Given the description of an element on the screen output the (x, y) to click on. 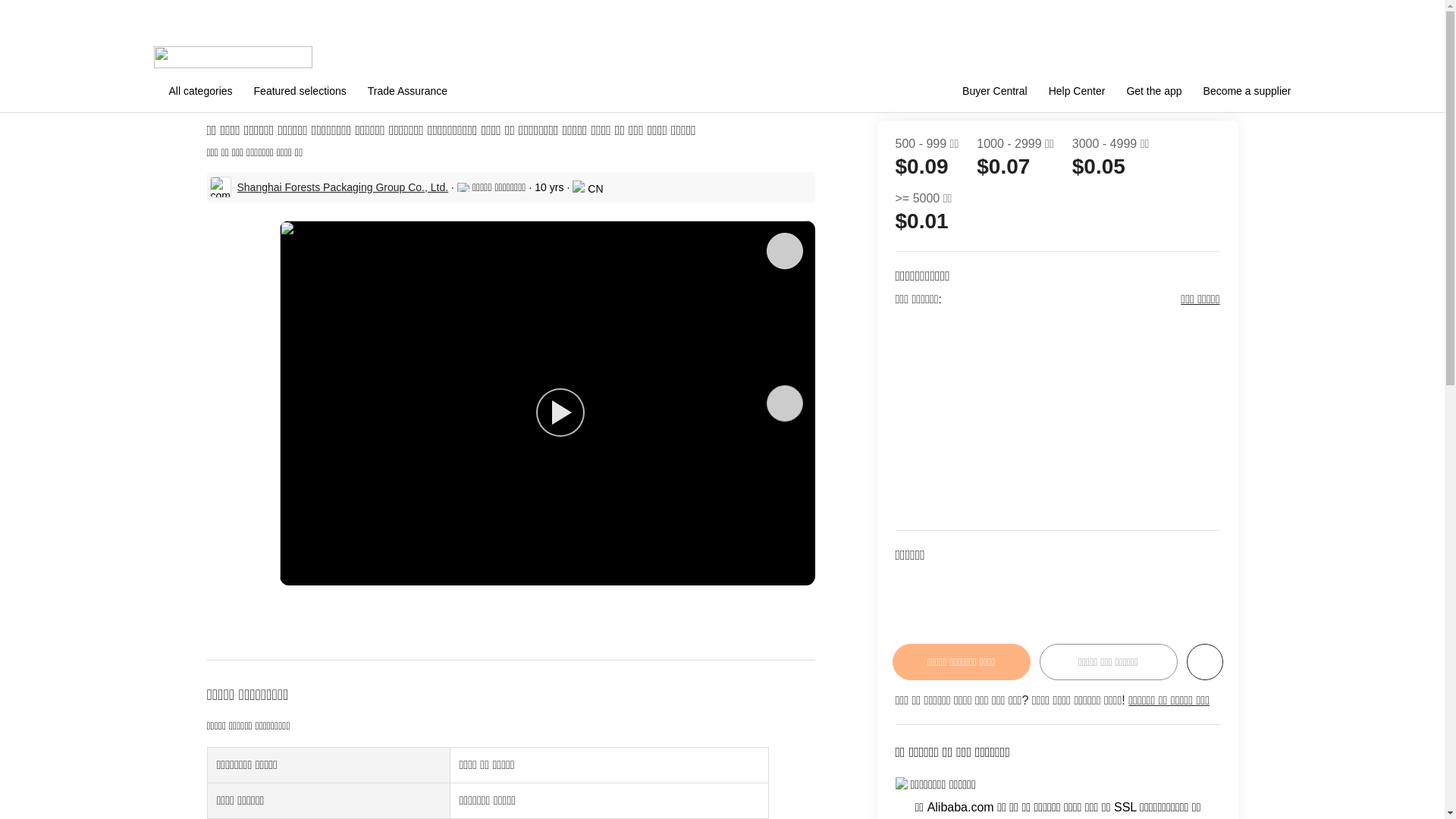
Shanghai Forests Packaging Group Co., Ltd. (341, 186)
Shanghai Forests Packaging Group Co., Ltd. (341, 186)
